Given the description of an element on the screen output the (x, y) to click on. 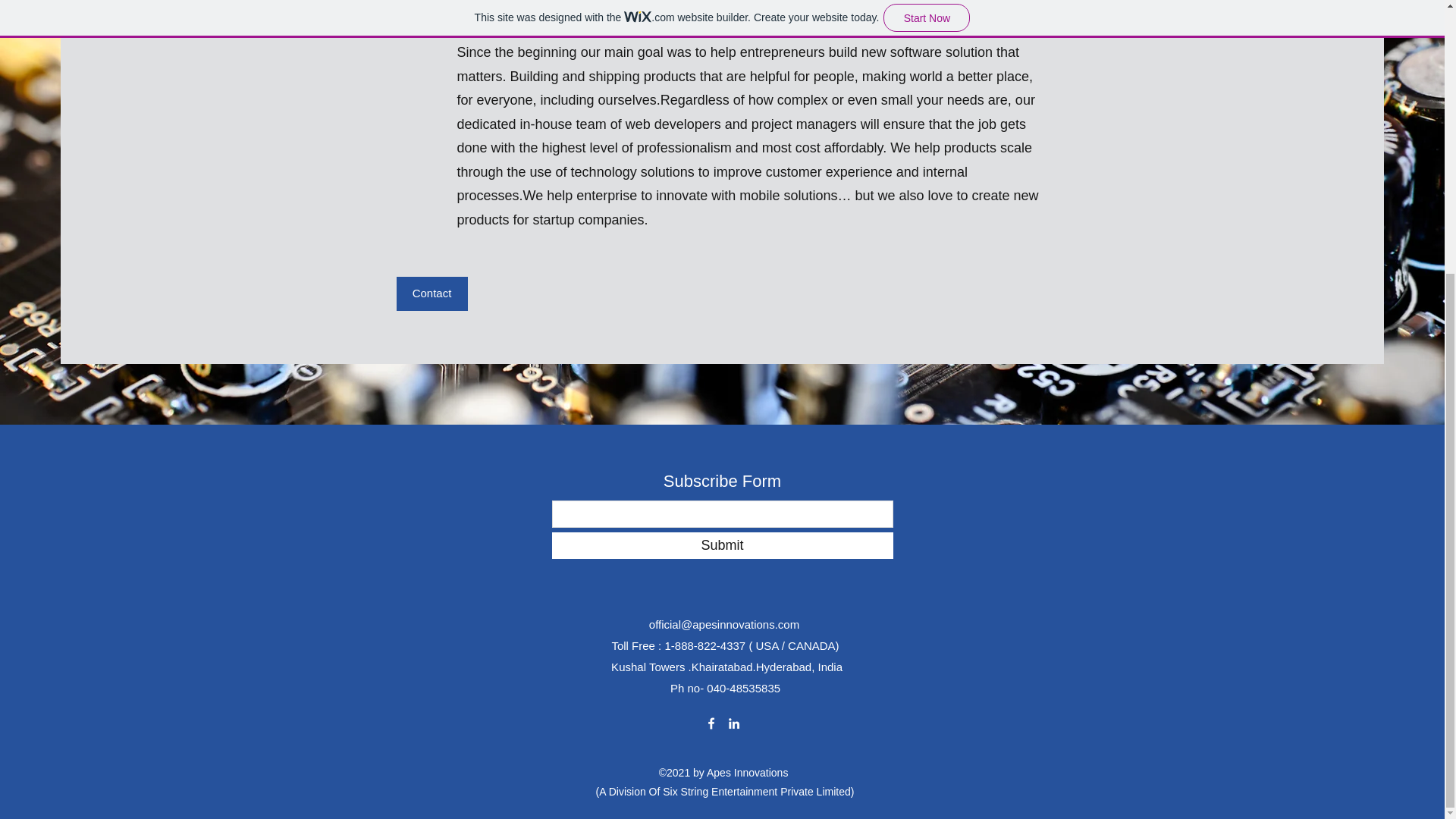
Submit (722, 545)
Contact (431, 293)
